Given the description of an element on the screen output the (x, y) to click on. 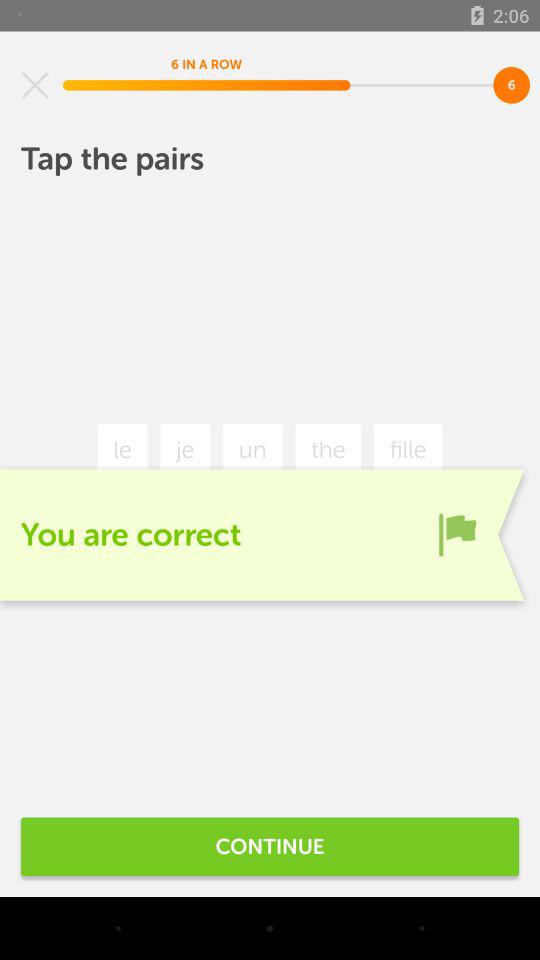
tap the item at the top left corner (35, 85)
